Given the description of an element on the screen output the (x, y) to click on. 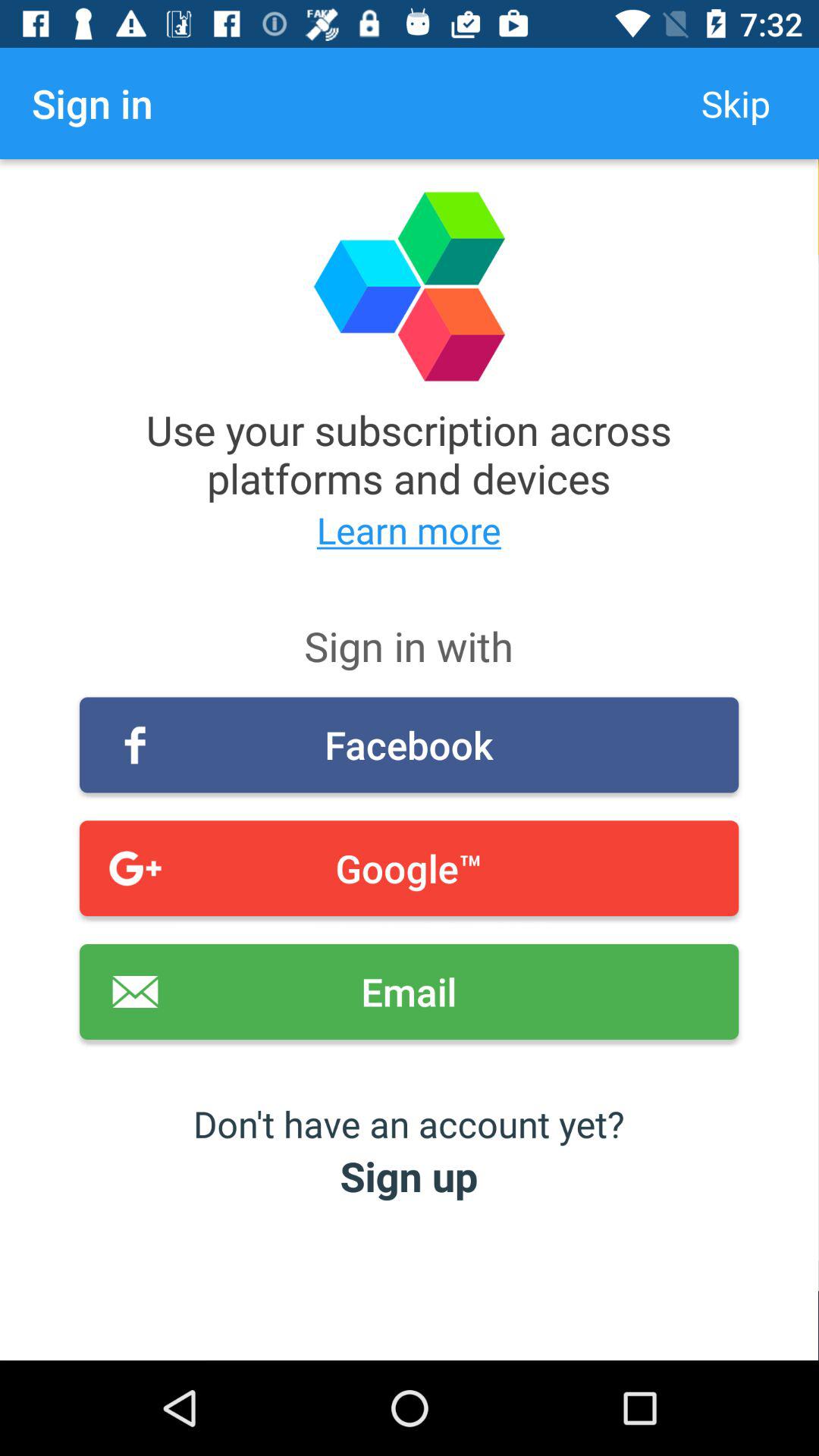
press item below the sign in with (408, 744)
